Given the description of an element on the screen output the (x, y) to click on. 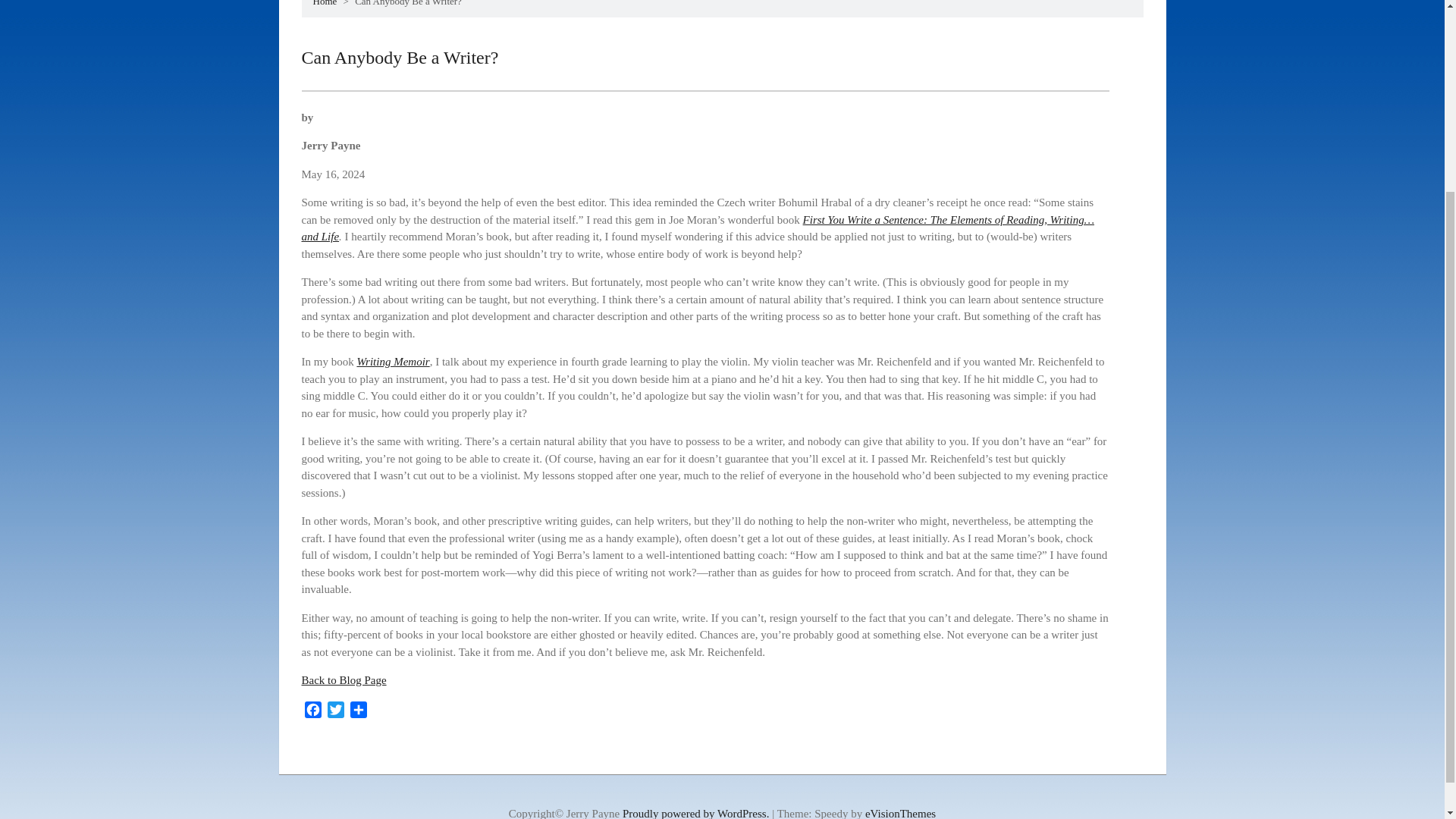
Twitter (335, 711)
Back to Blog Page (344, 680)
Writing Memoir (392, 361)
Twitter (335, 711)
Home (324, 3)
Facebook (312, 711)
Facebook (312, 711)
